Given the description of an element on the screen output the (x, y) to click on. 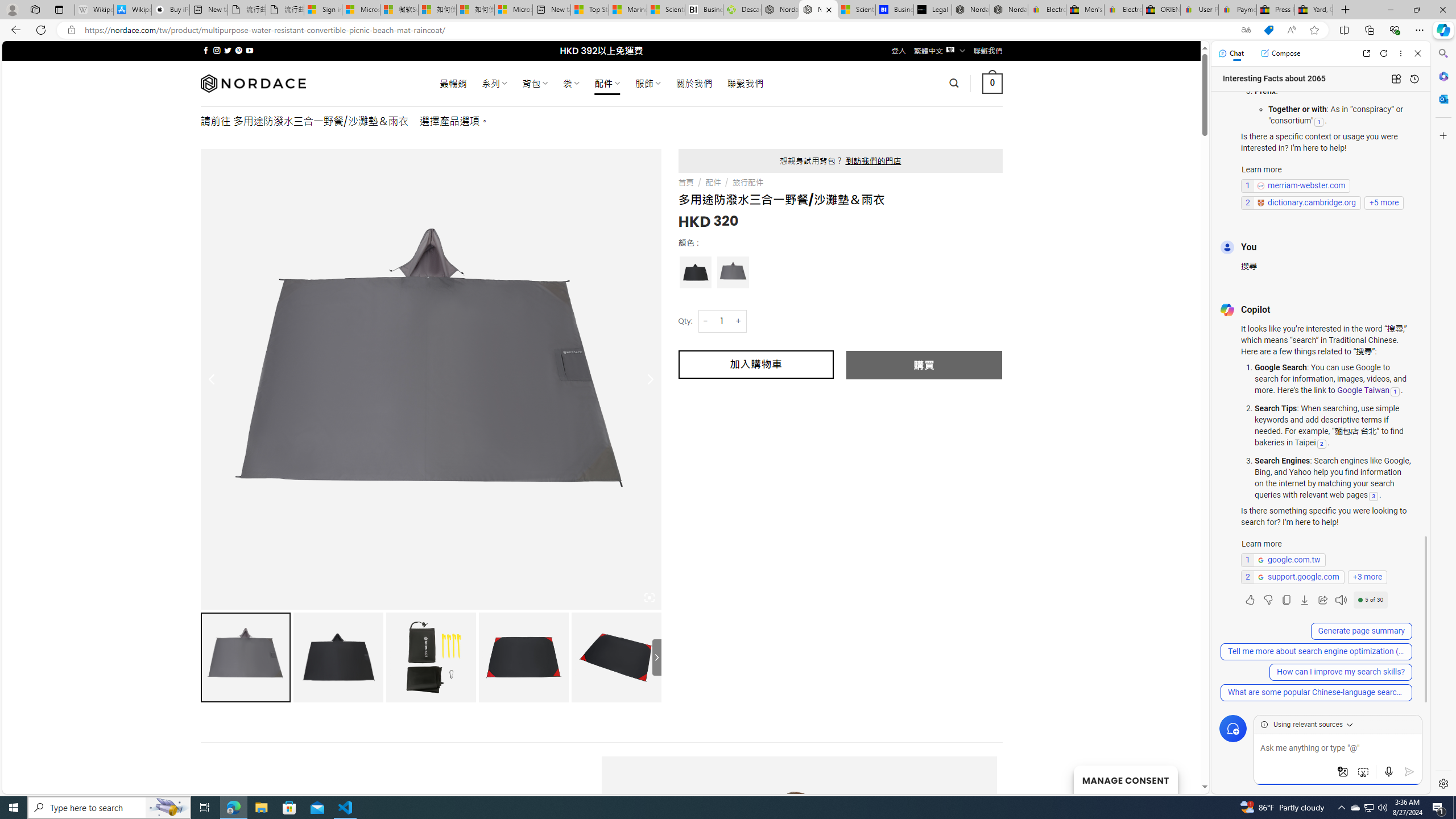
Follow on YouTube (249, 50)
